Given the description of an element on the screen output the (x, y) to click on. 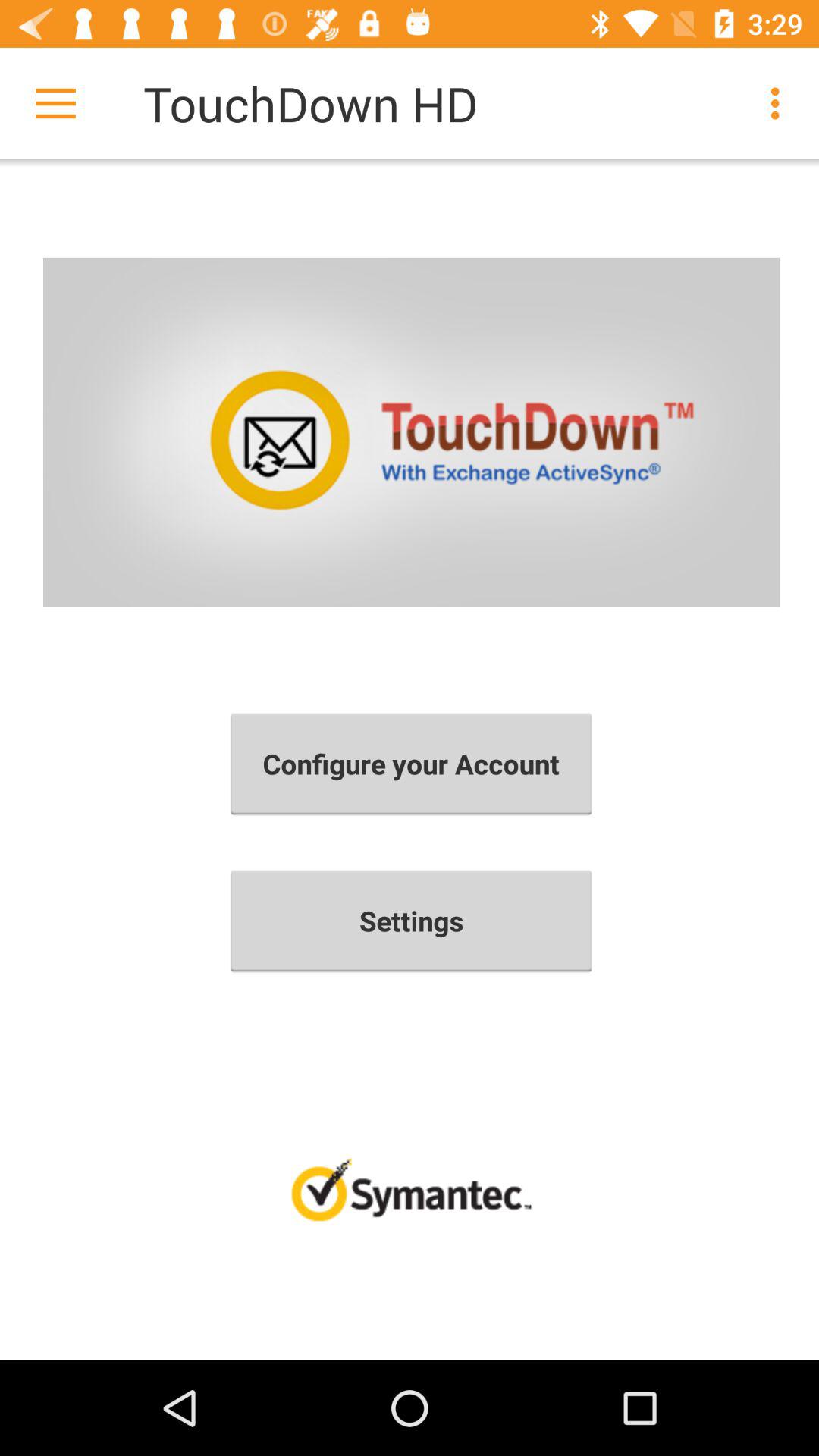
open the configure your account (410, 763)
